Given the description of an element on the screen output the (x, y) to click on. 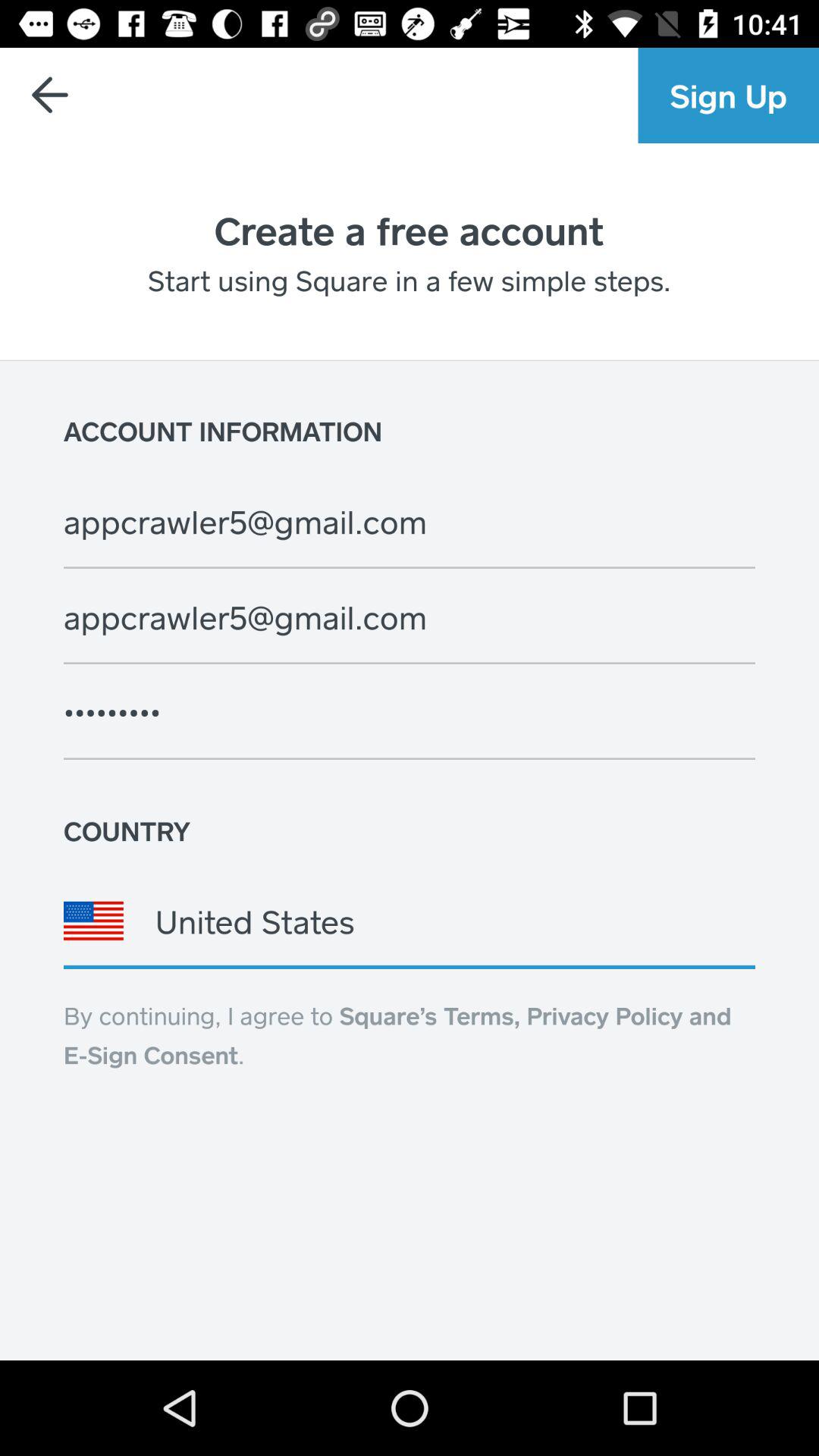
press create a free icon (409, 230)
